Given the description of an element on the screen output the (x, y) to click on. 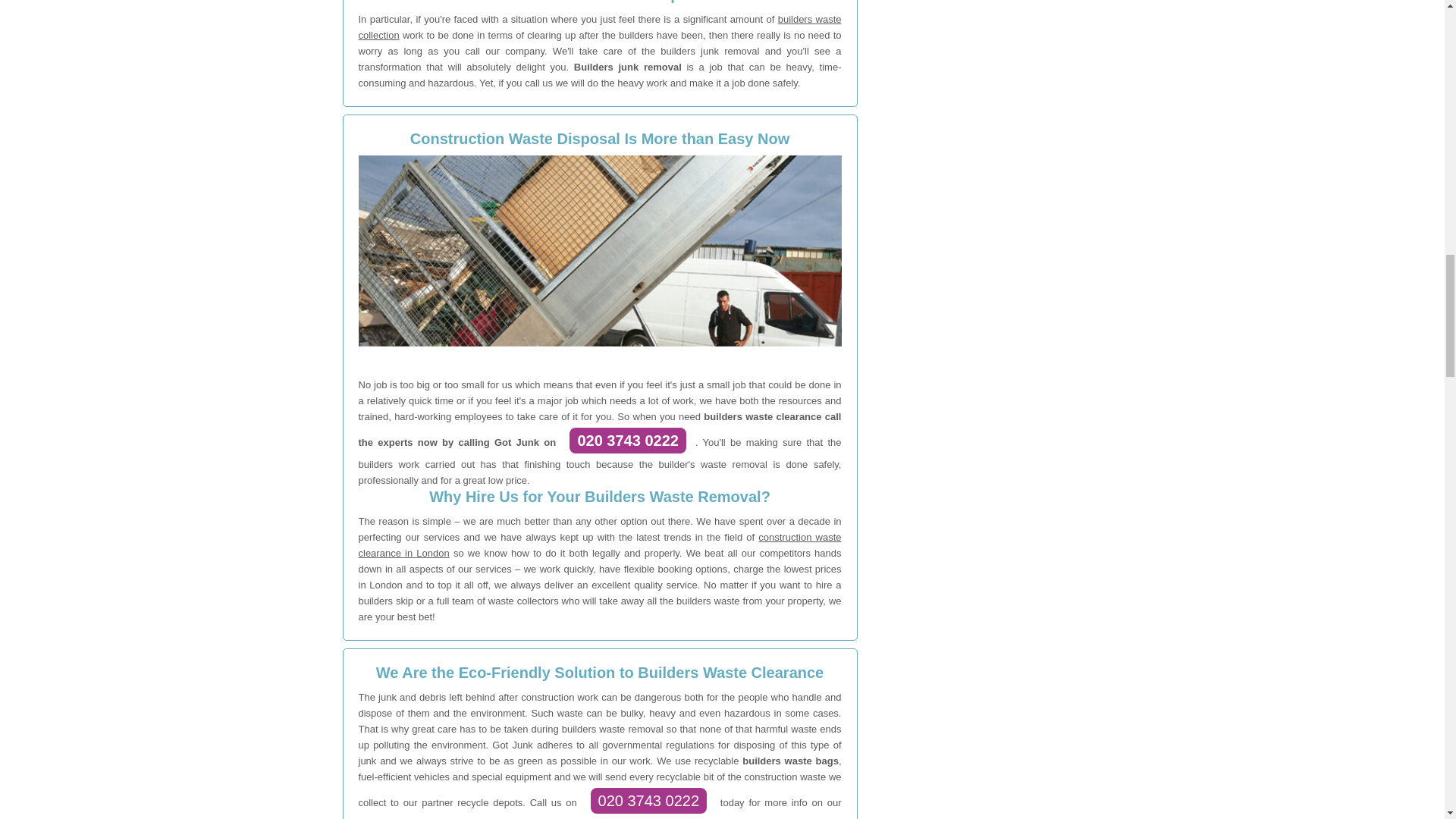
020 3743 0222 (648, 800)
Call free 020 3743 0222  (627, 440)
Call free 020 3743 0222  (648, 800)
020 3743 0222 (627, 440)
